Given the description of an element on the screen output the (x, y) to click on. 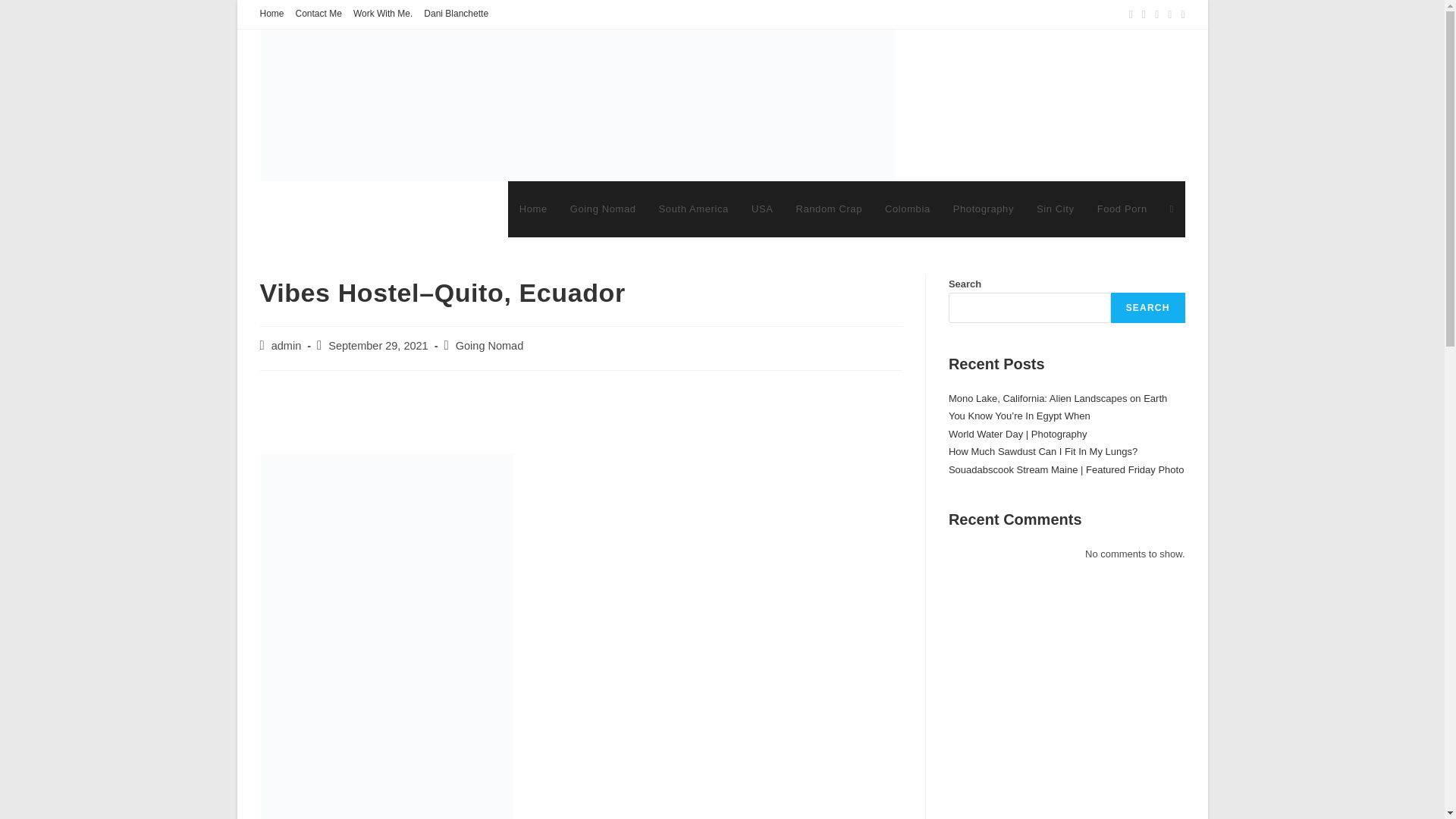
admin (285, 345)
Posts by admin (285, 345)
Food Porn (1122, 208)
Photography (983, 208)
South America (693, 208)
Contact Me (318, 13)
Dani Blanchette (455, 13)
Random Crap (828, 208)
Work With Me. (382, 13)
Home (533, 208)
